Given the description of an element on the screen output the (x, y) to click on. 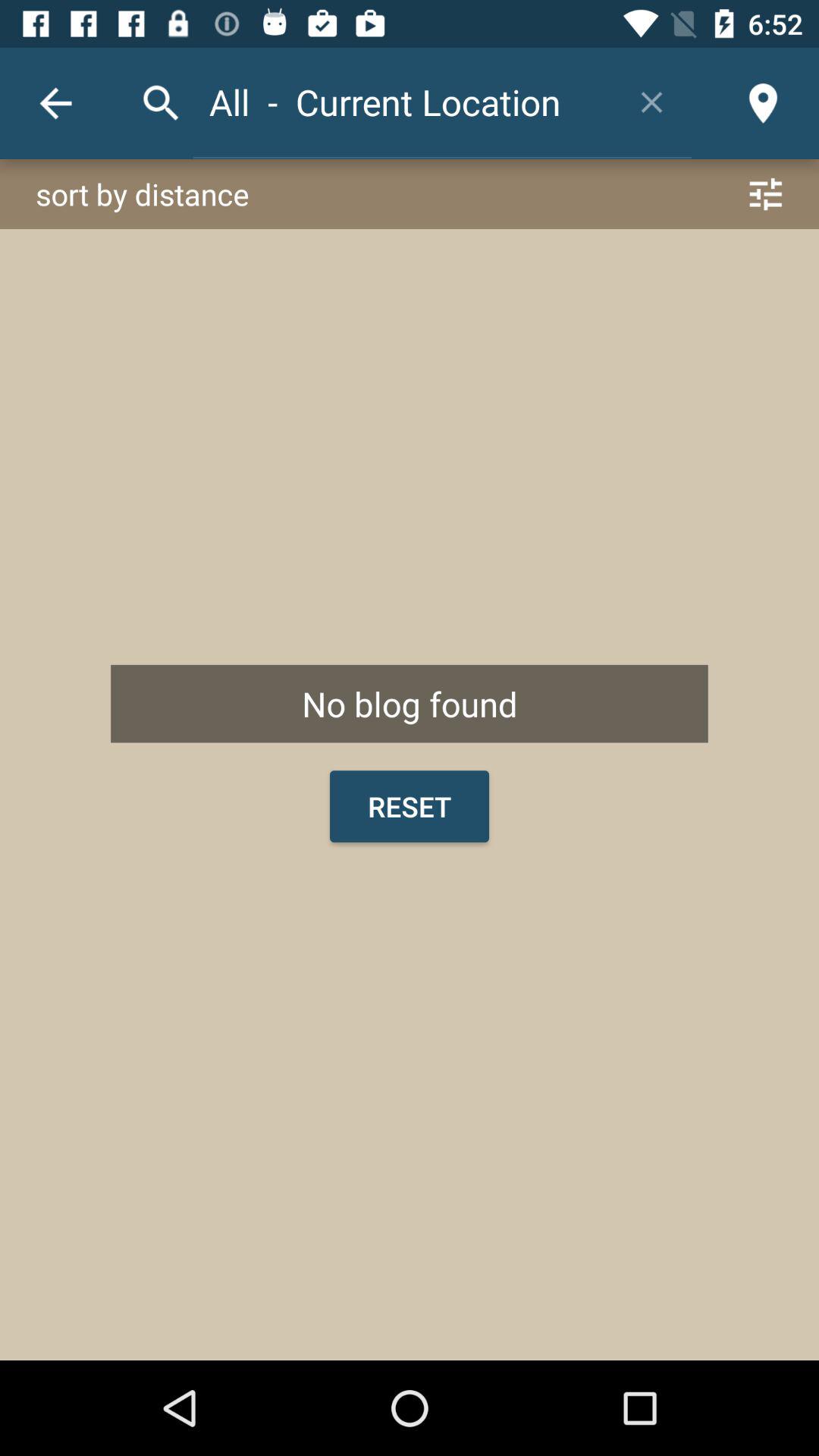
turn on icon above no blog found icon (409, 194)
